Given the description of an element on the screen output the (x, y) to click on. 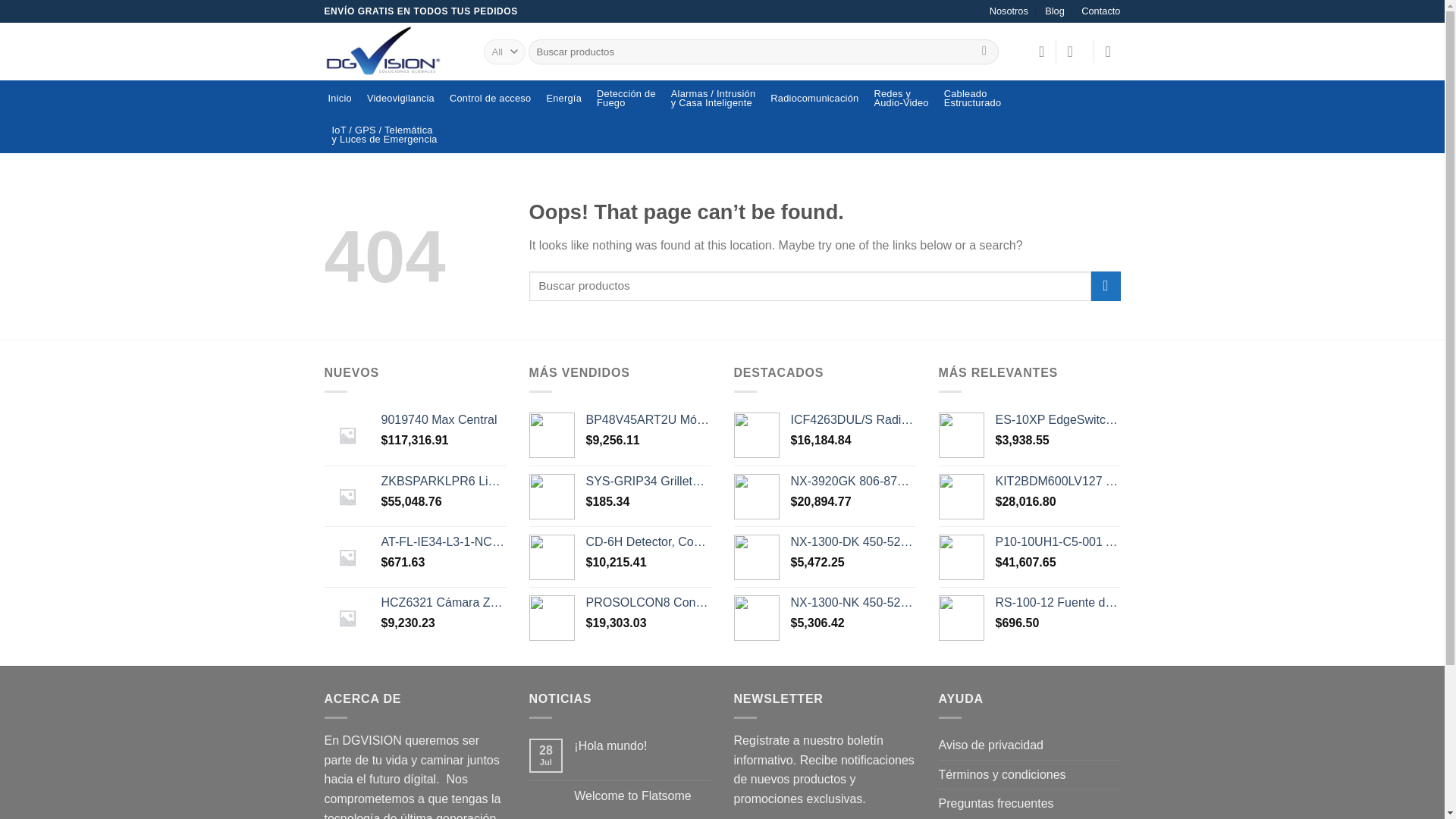
Welcome to Flatsome (973, 98)
Control de acceso (641, 795)
9019740 Max Central (490, 98)
Buscar (900, 98)
Contacto (442, 420)
Nosotros (984, 52)
Skip to content (1100, 11)
